Given the description of an element on the screen output the (x, y) to click on. 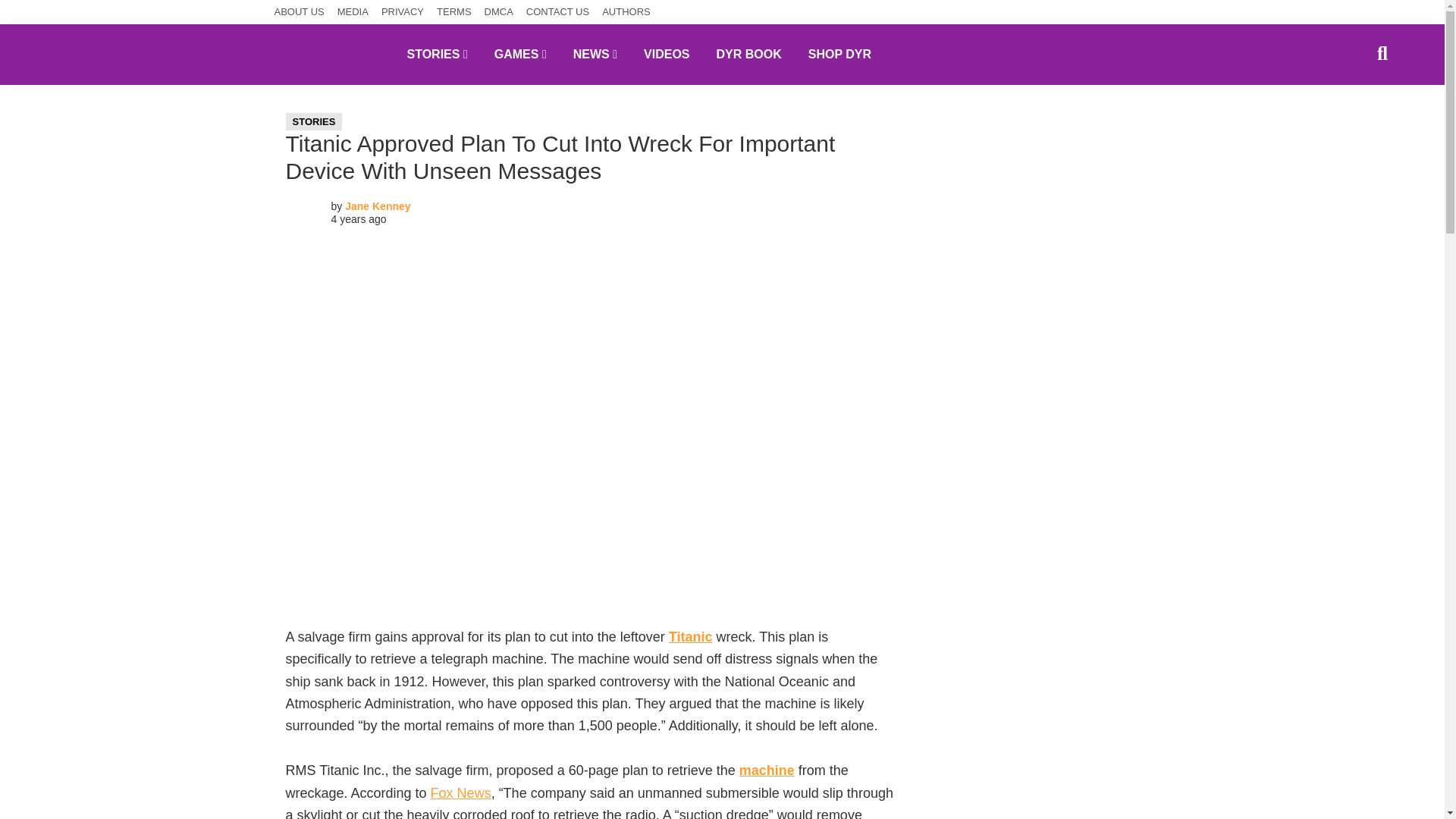
AUTHORS (626, 12)
NEWS (595, 54)
STORIES (314, 121)
VIDEOS (665, 54)
TERMS (453, 12)
STORIES (437, 54)
ABOUT US (299, 12)
CONTACT US (557, 12)
Jane Kenney (377, 205)
